Given the description of an element on the screen output the (x, y) to click on. 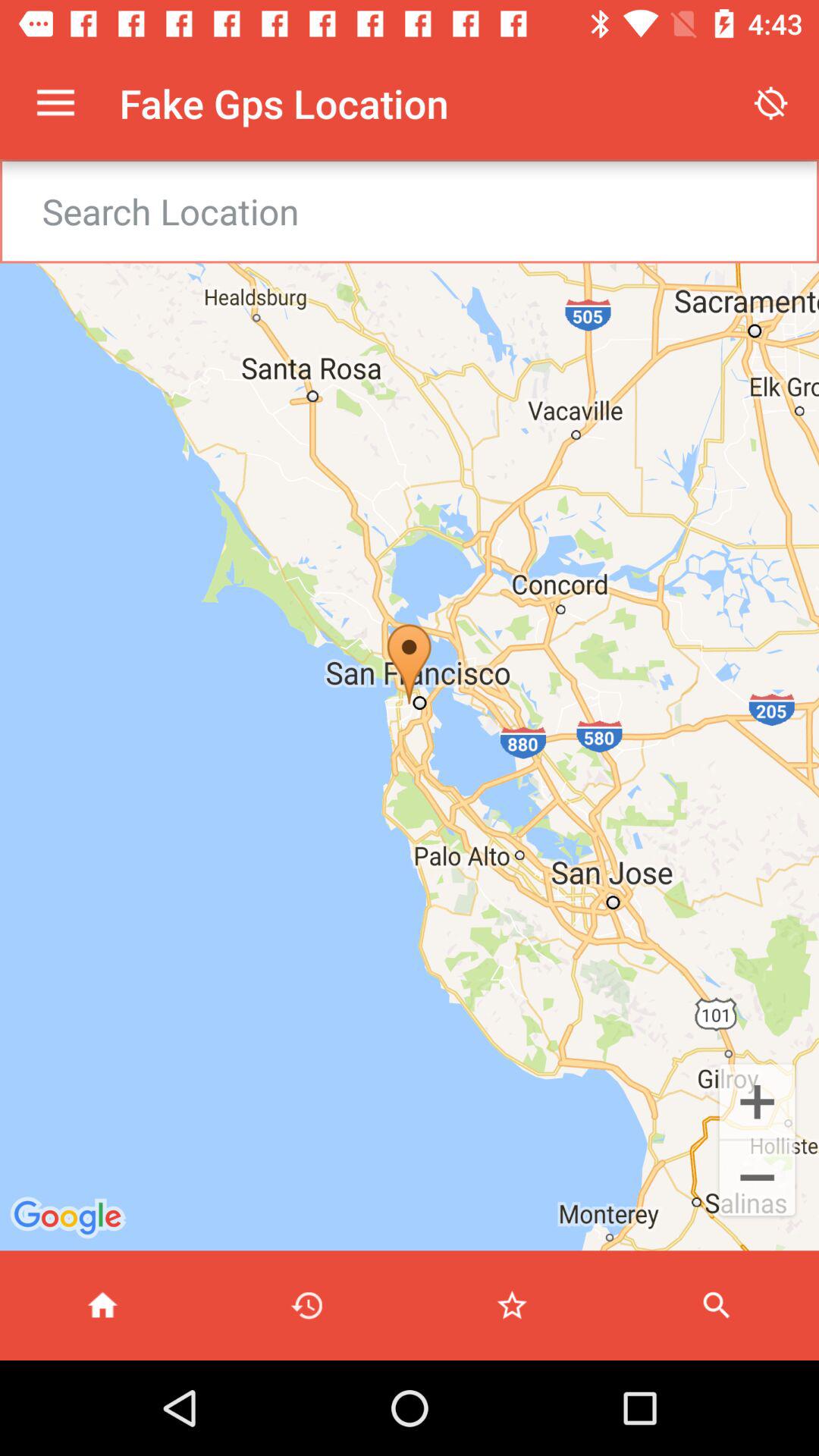
click the item next to the fake gps location item (771, 103)
